Given the description of an element on the screen output the (x, y) to click on. 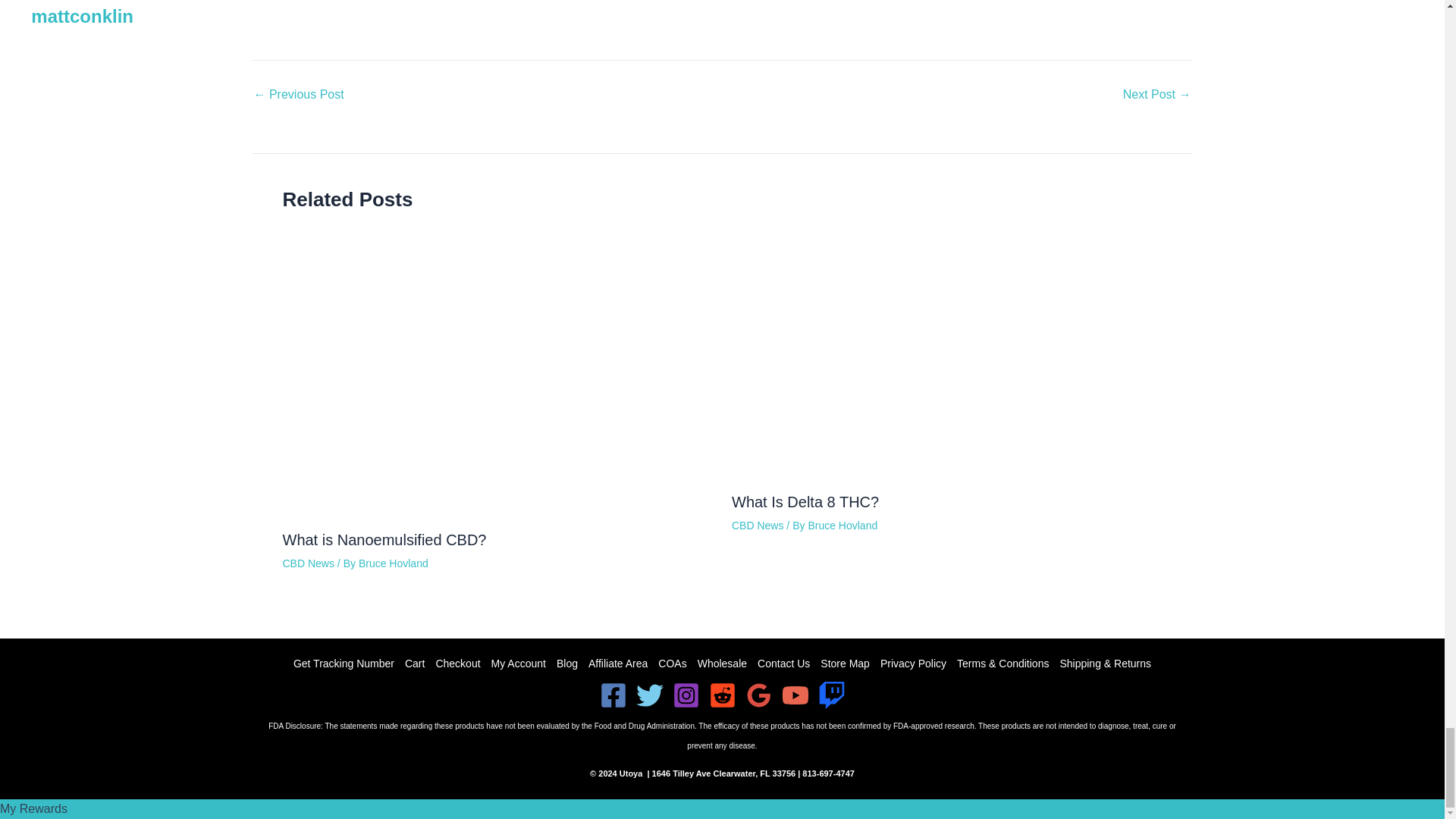
View all posts by Bruce Hovland (842, 525)
View all posts by Bruce Hovland (393, 563)
